Given the description of an element on the screen output the (x, y) to click on. 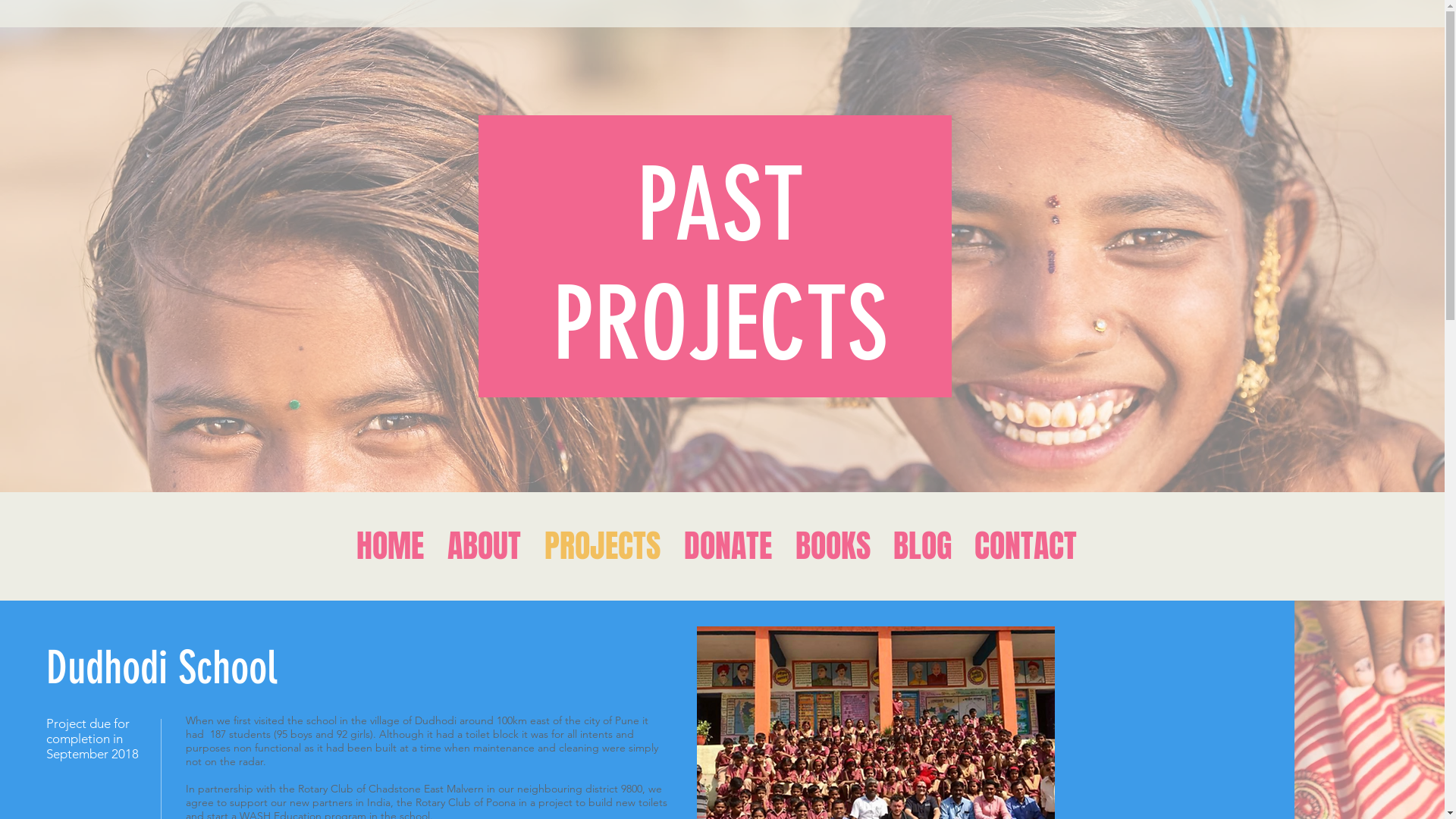
HOME Element type: text (389, 546)
CONTACT Element type: text (1025, 546)
BOOKS Element type: text (832, 546)
PROJECTS Element type: text (601, 546)
DONATE Element type: text (727, 546)
BLOG Element type: text (921, 546)
ABOUT Element type: text (483, 546)
